Given the description of an element on the screen output the (x, y) to click on. 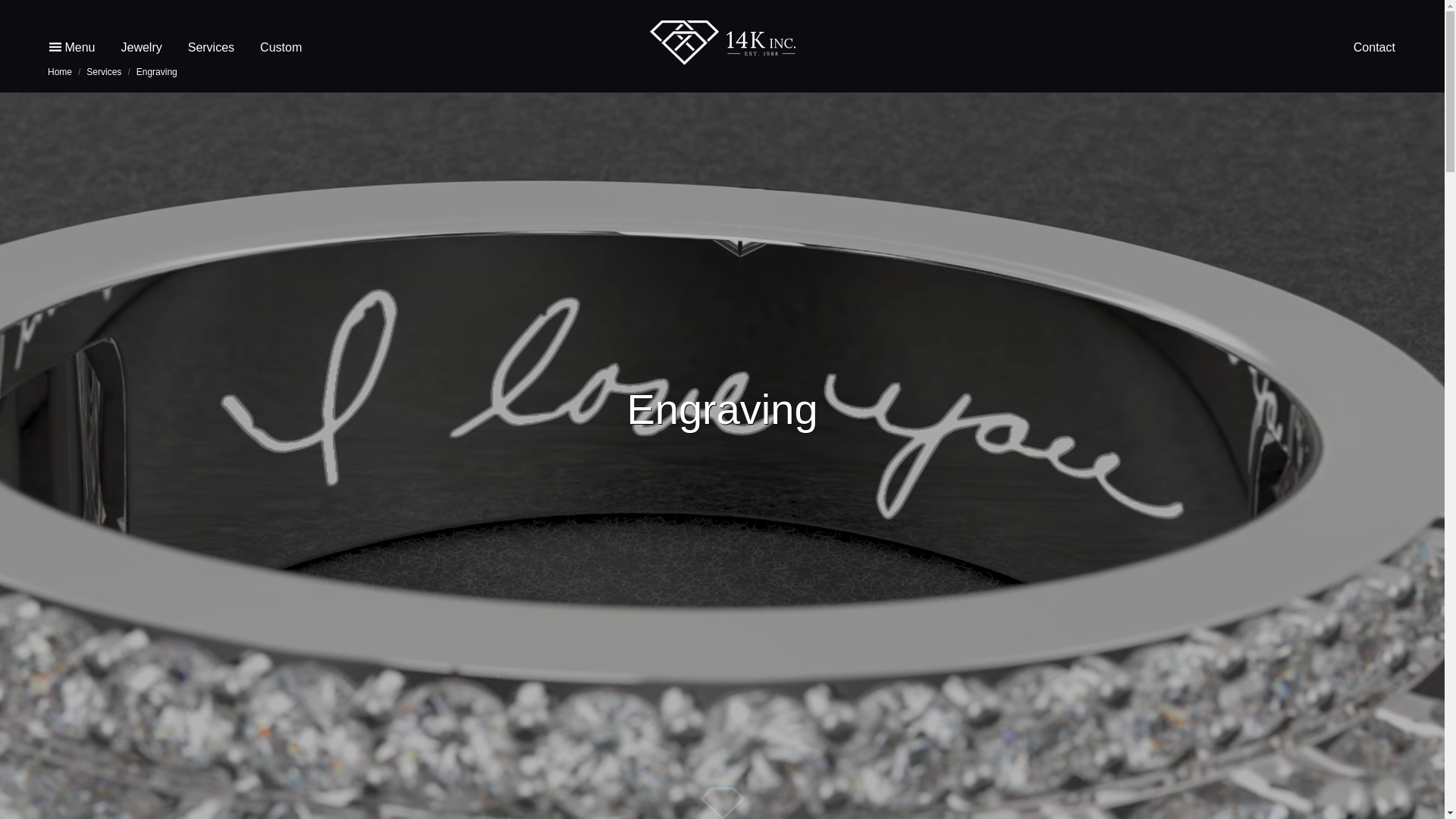
Custom Element type: text (280, 47)
Services Element type: text (103, 71)
Home Element type: text (59, 71)
Contact Element type: text (1374, 47)
Services Element type: text (211, 47)
Menu Element type: text (71, 47)
Jewelry Element type: text (140, 47)
